Given the description of an element on the screen output the (x, y) to click on. 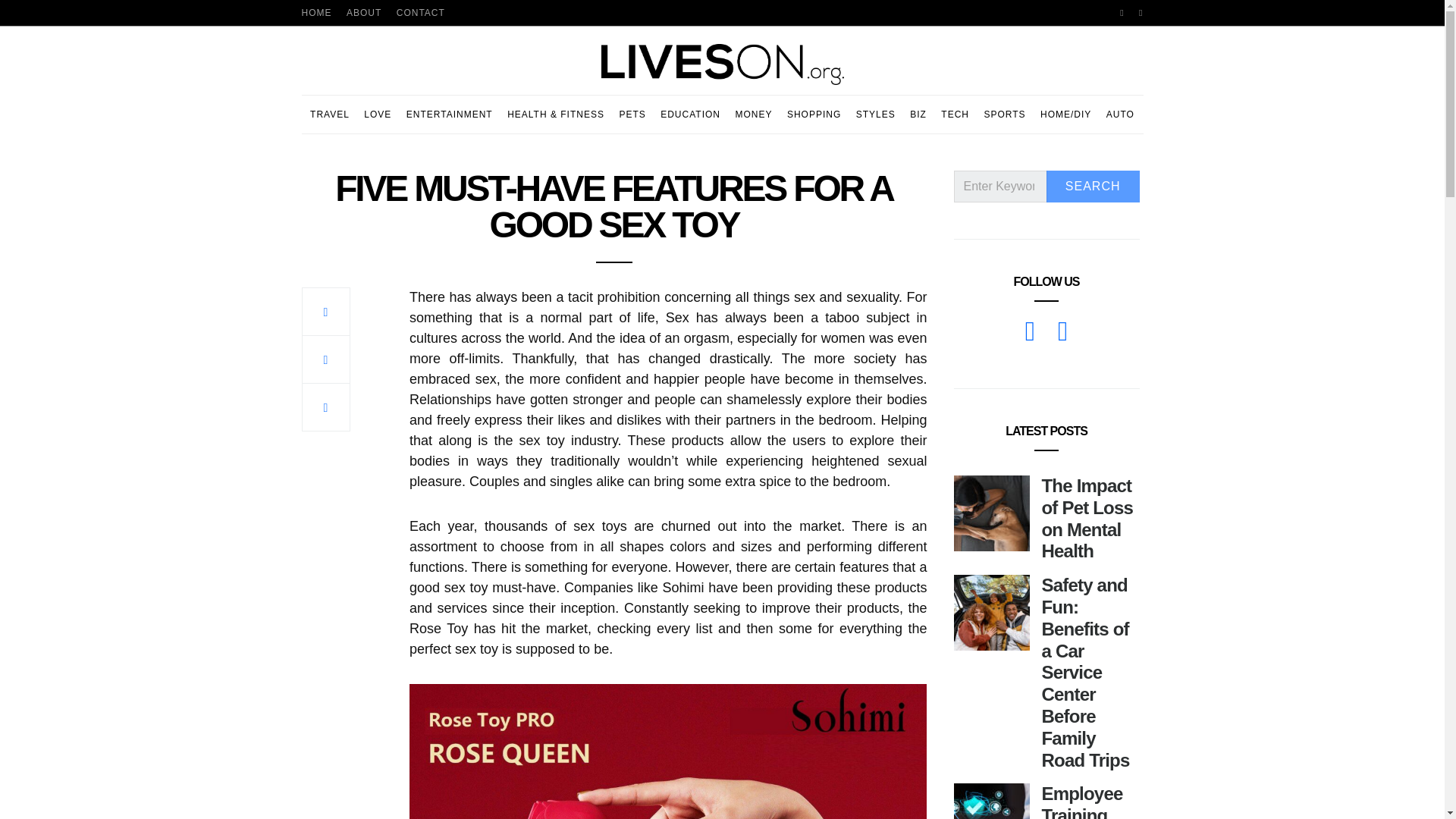
HOME (316, 12)
SHOPPING (814, 114)
SPORTS (1004, 114)
CONTACT (420, 12)
MONEY (753, 114)
EDUCATION (690, 114)
STYLES (875, 114)
ENTERTAINMENT (449, 114)
TRAVEL (329, 114)
ABOUT (363, 12)
